Given the description of an element on the screen output the (x, y) to click on. 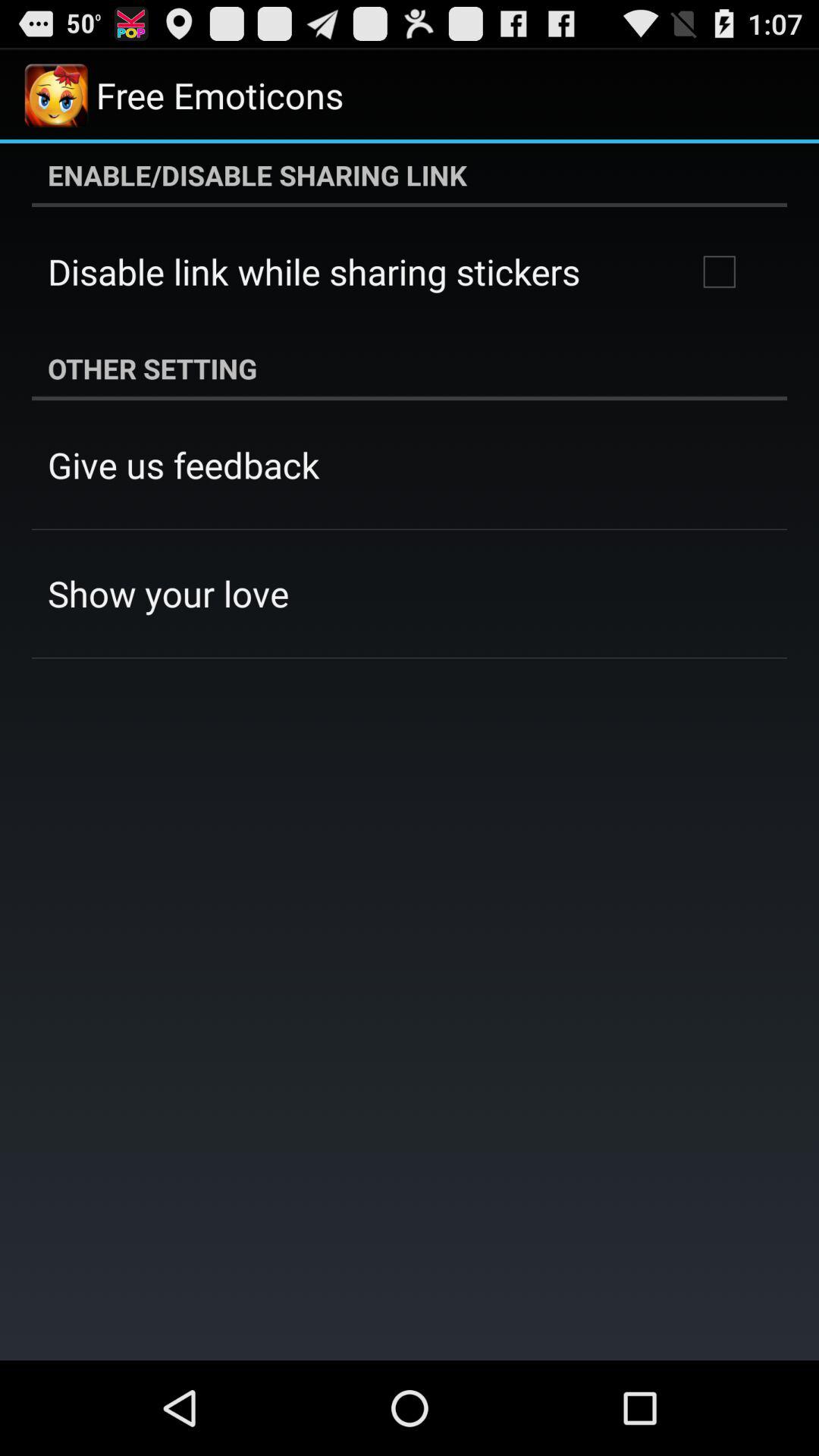
tap the item above give us feedback app (409, 368)
